Given the description of an element on the screen output the (x, y) to click on. 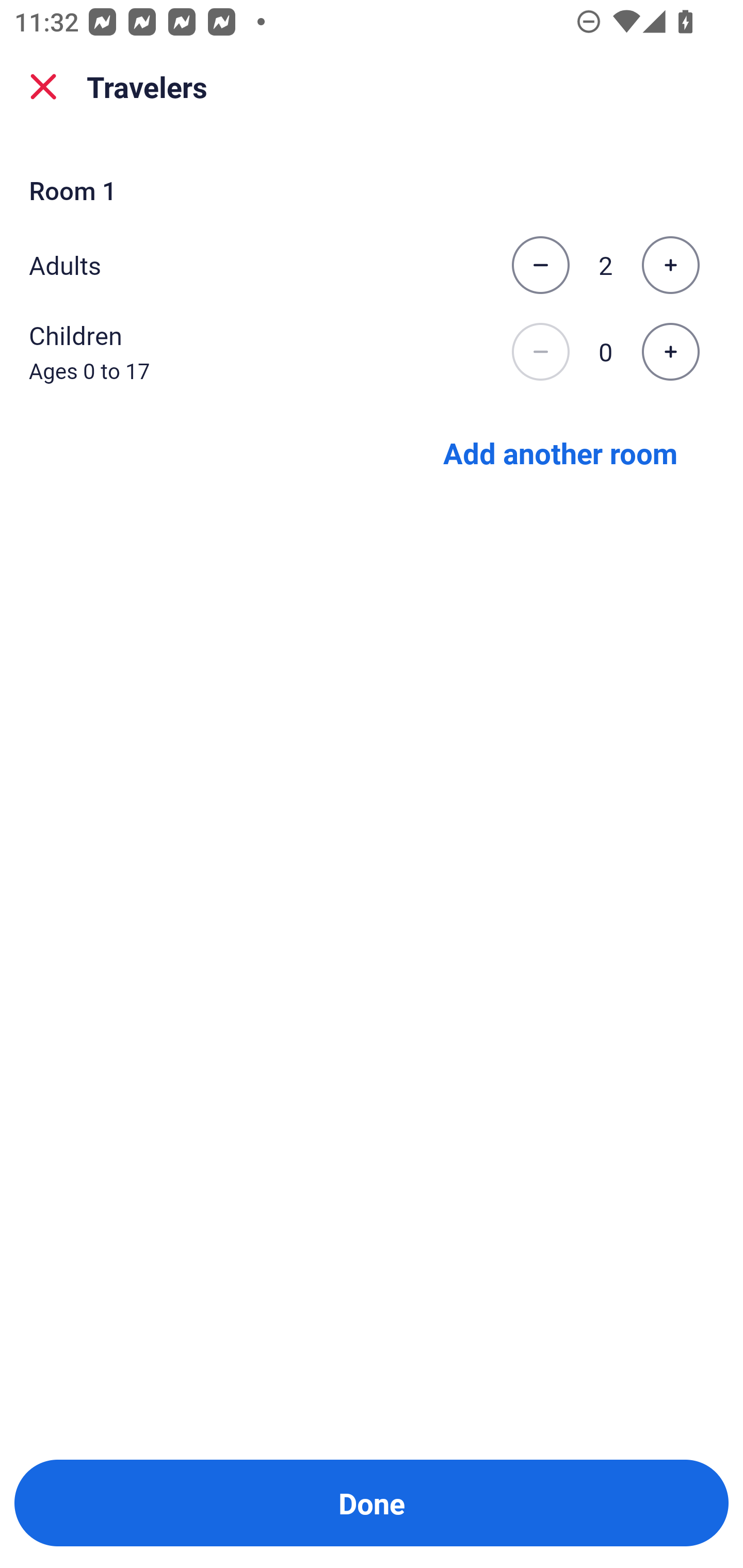
close (43, 86)
Decrease the number of adults (540, 264)
Increase the number of adults (670, 264)
Decrease the number of children (540, 351)
Increase the number of children (670, 351)
Add another room (560, 452)
Done (371, 1502)
